Given the description of an element on the screen output the (x, y) to click on. 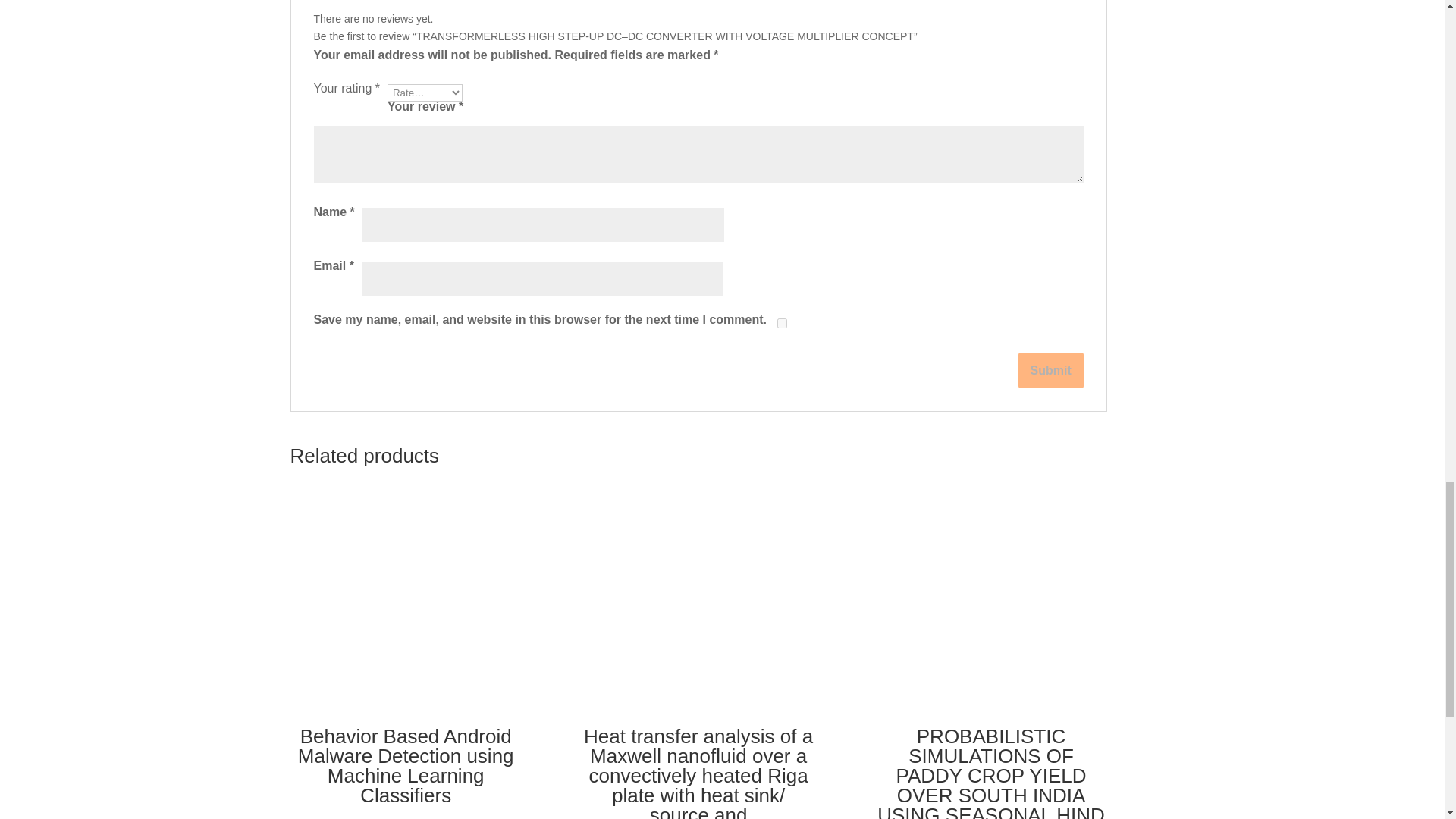
Submit (1050, 370)
yes (782, 323)
Submit (1050, 370)
